Given the description of an element on the screen output the (x, y) to click on. 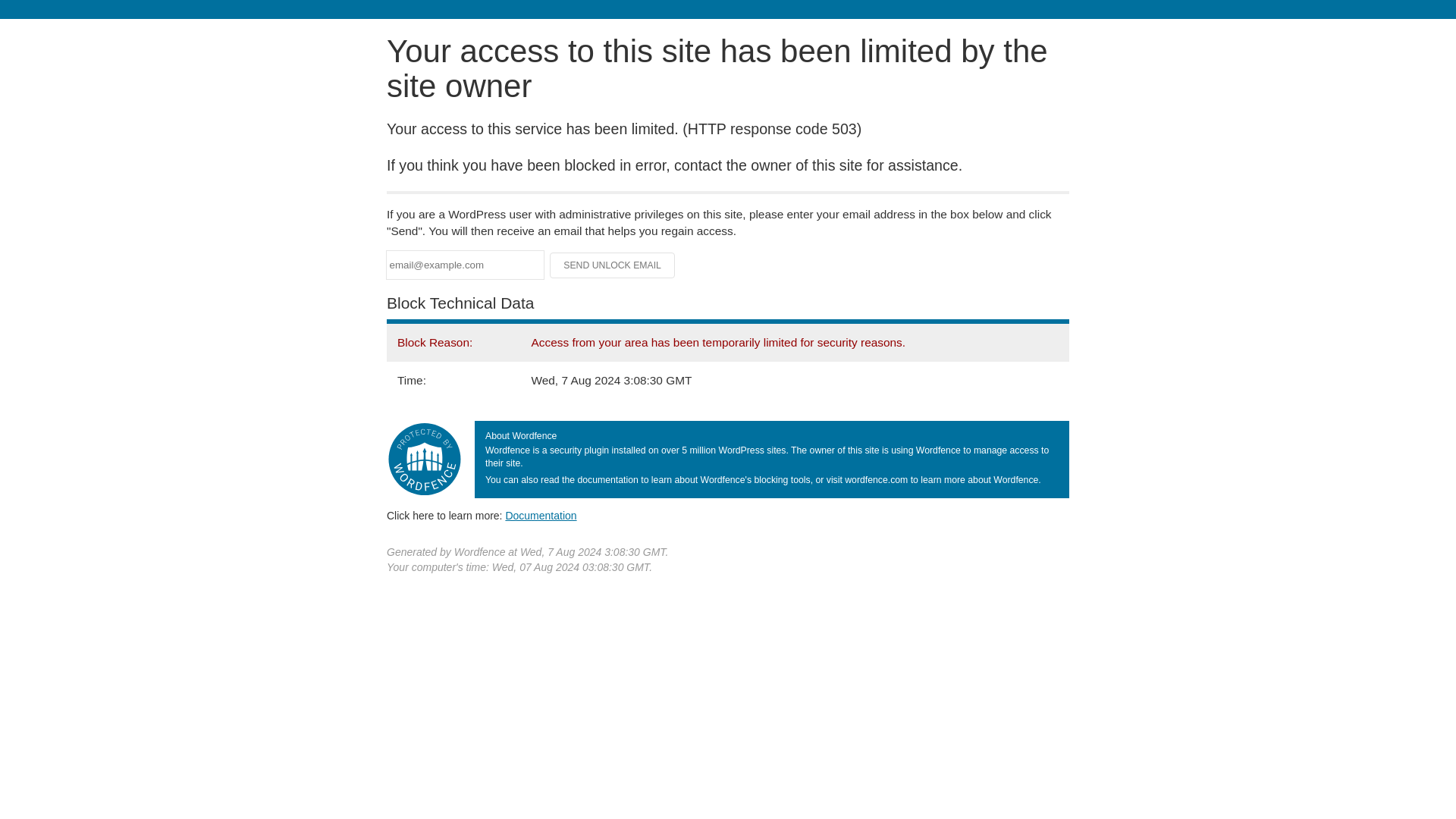
Documentation (540, 515)
Send Unlock Email (612, 265)
Send Unlock Email (612, 265)
